Given the description of an element on the screen output the (x, y) to click on. 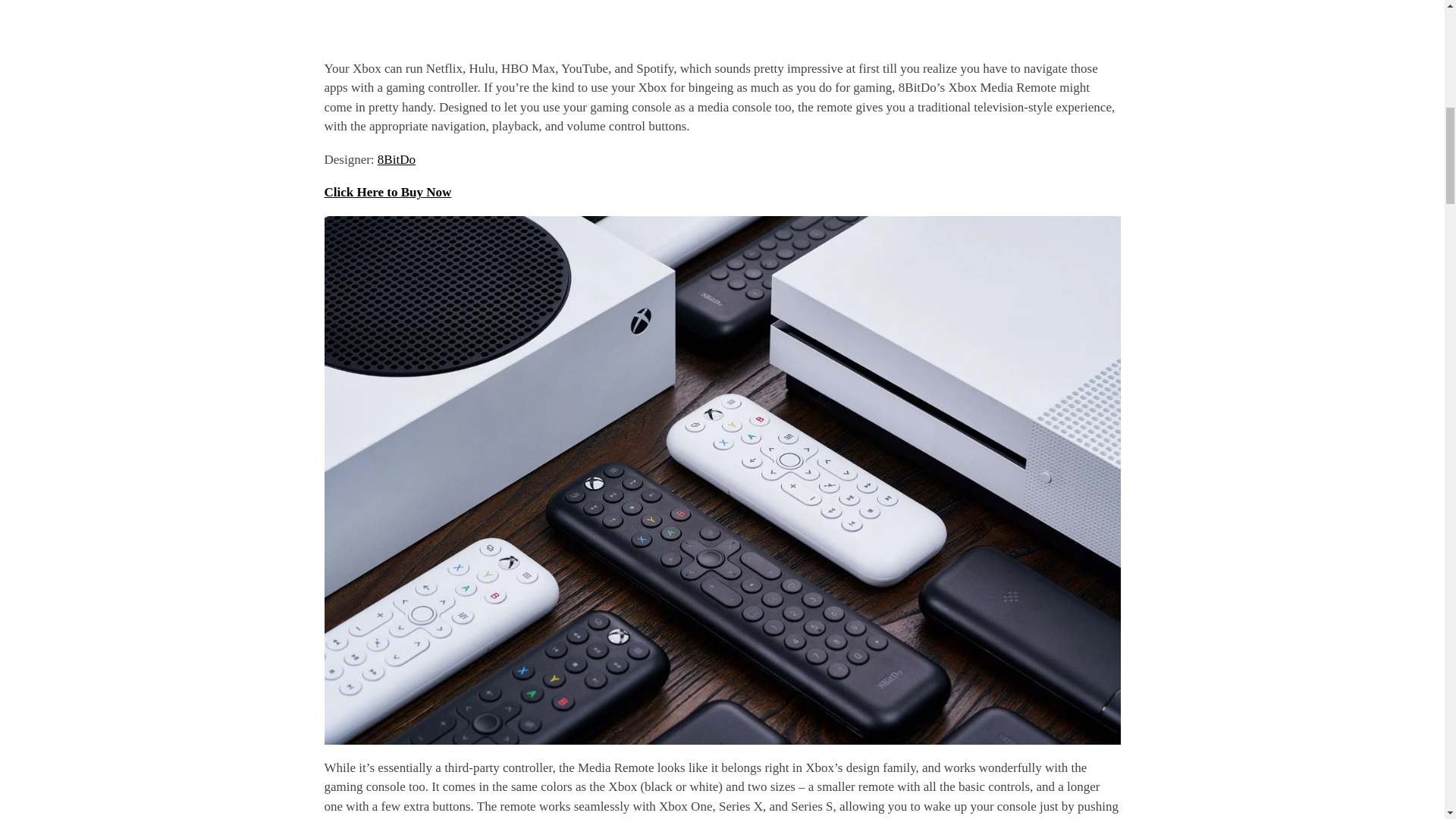
8Bitdo Media Remote for Xbox One, Xbox Series XS (722, 19)
